Given the description of an element on the screen output the (x, y) to click on. 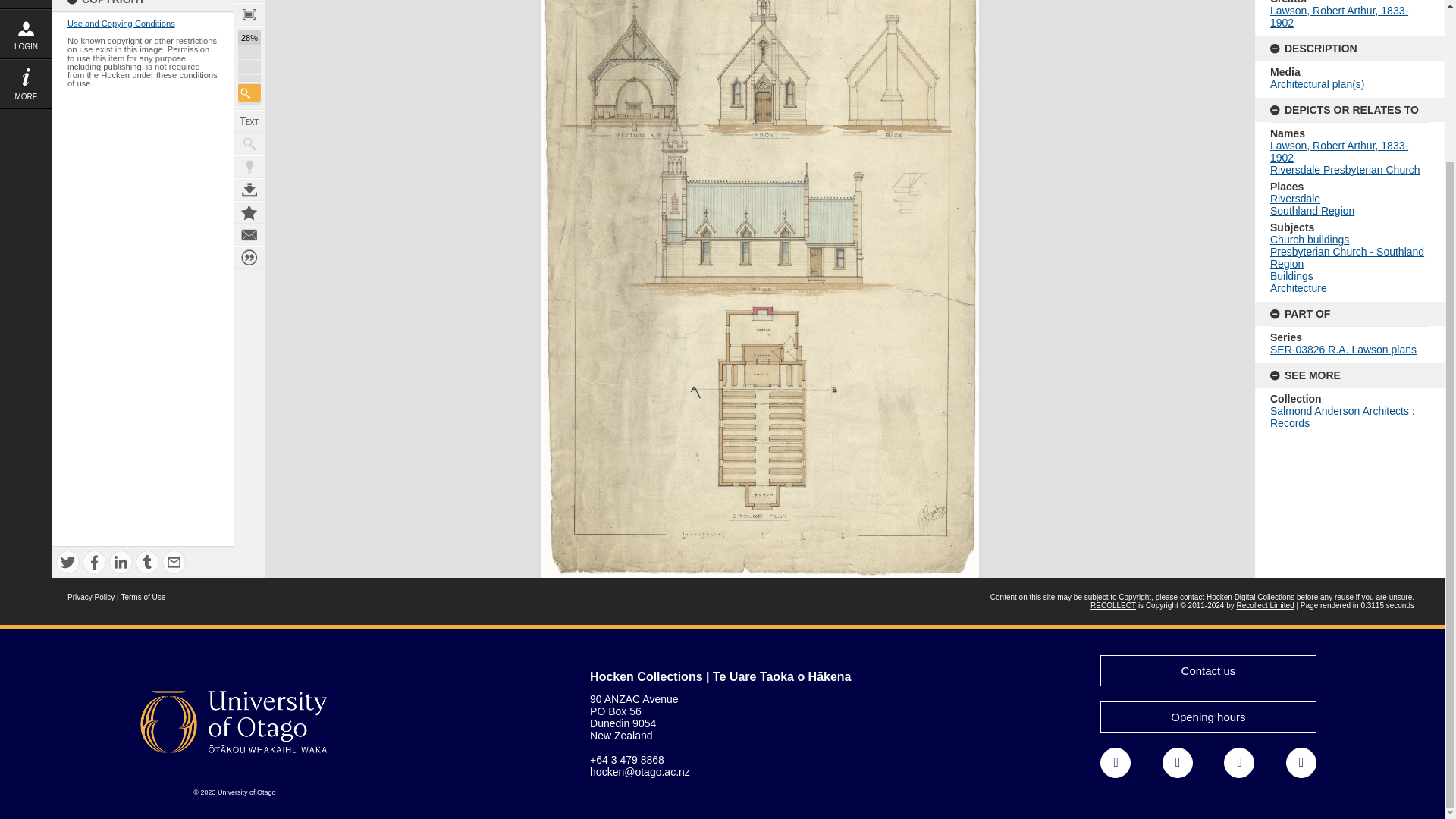
Share this via email (173, 562)
Share this on LinkedIn (120, 562)
MORE (26, 83)
Citation for this item (249, 257)
Download (249, 189)
Use and Copying Conditions (120, 22)
Tweet this on Twitter (68, 562)
Show keyword hits (249, 143)
MY HISTORY (26, 4)
Contact us about this (249, 234)
Highlight keywords (249, 166)
Share this on Facebook (94, 562)
Rotate 90 degrees (249, 1)
Share this on Tumblr (146, 562)
